Given the description of an element on the screen output the (x, y) to click on. 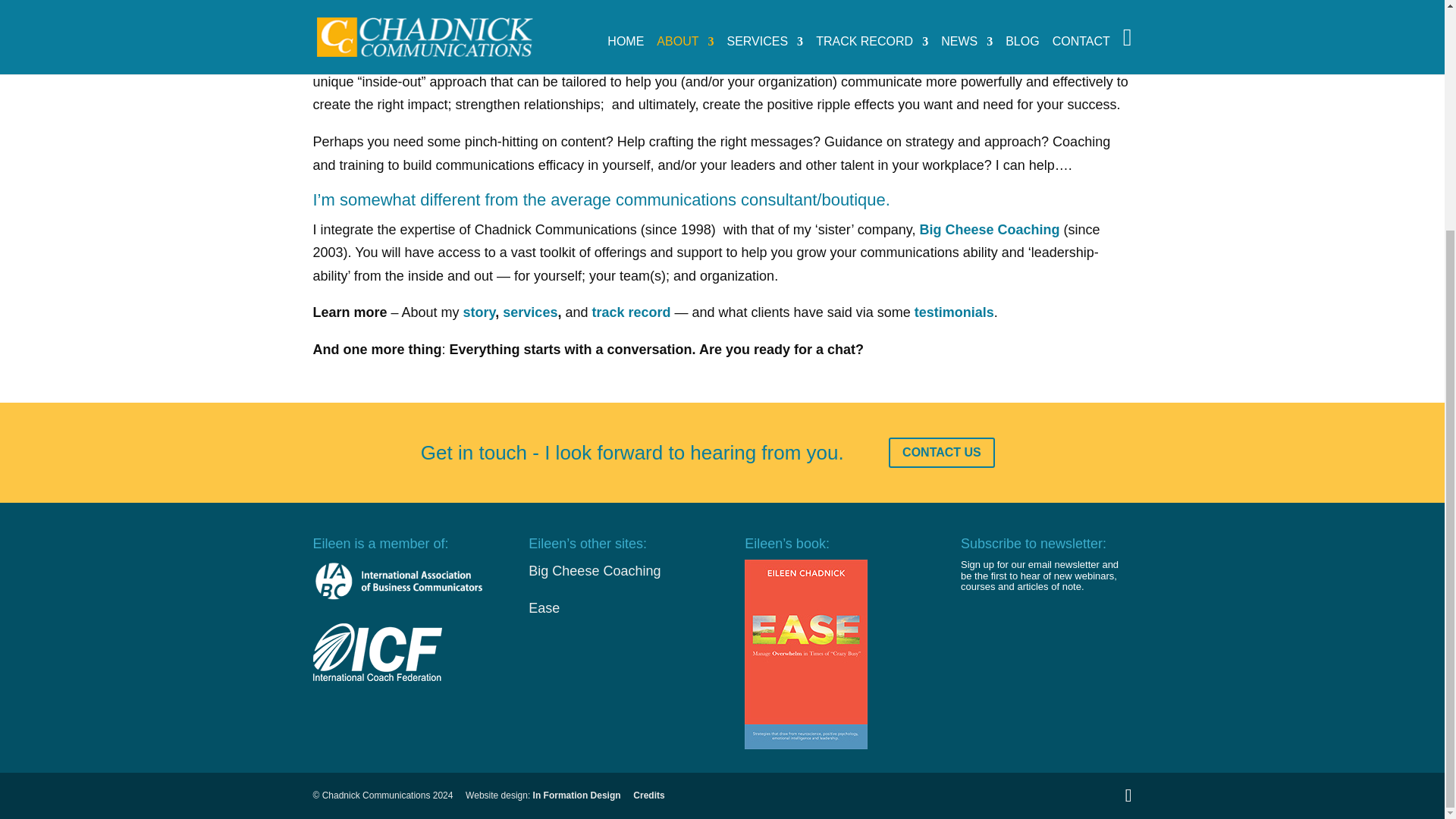
track record (632, 312)
Ease (543, 607)
services (529, 312)
CONTACT US (941, 452)
Big Cheese Coaching (989, 229)
Big Cheese Coaching (594, 570)
testimonials (954, 312)
story (479, 312)
In Formation Design (576, 795)
Credits (648, 795)
